Given the description of an element on the screen output the (x, y) to click on. 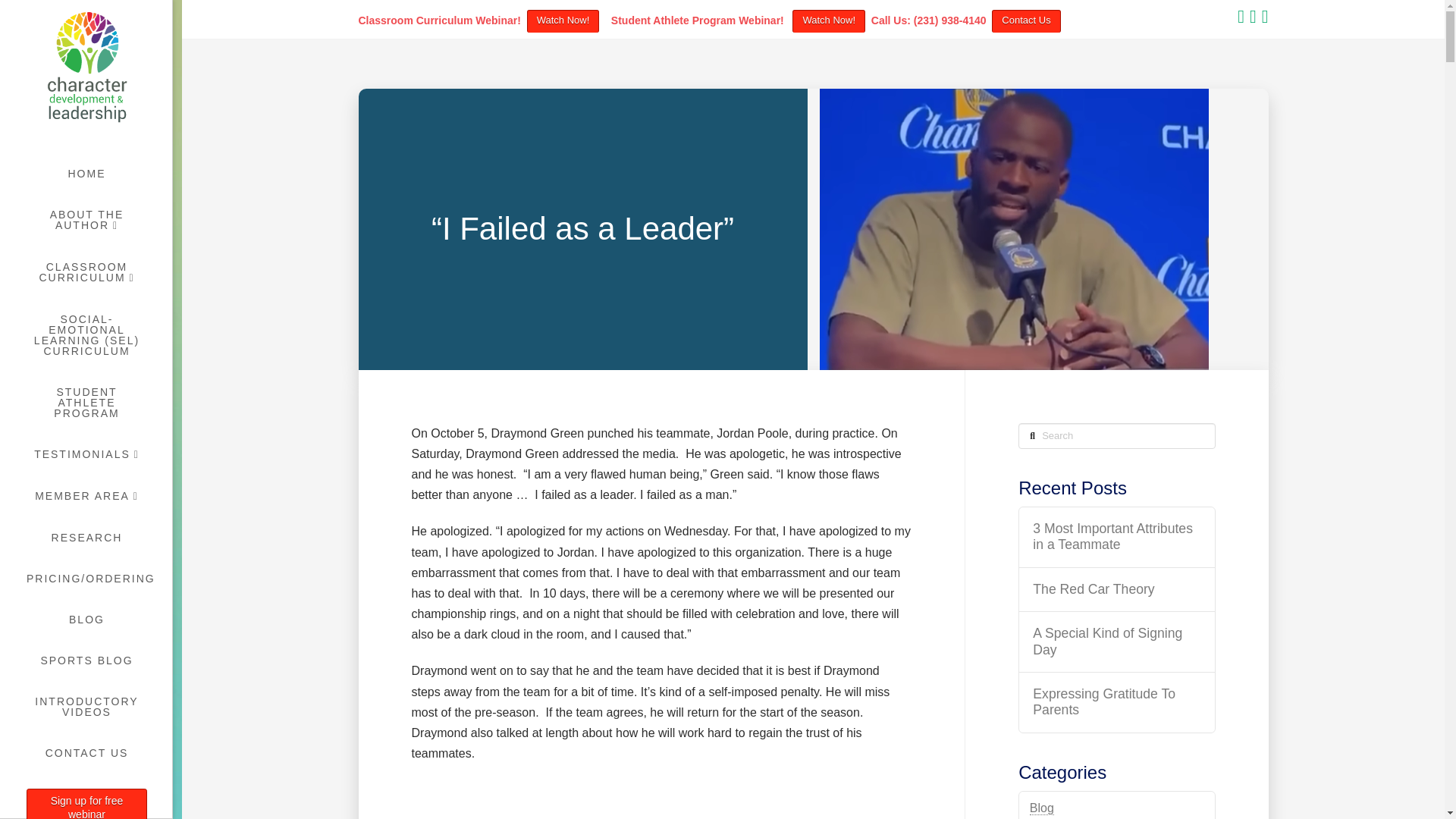
Webinars (86, 803)
Contact Us (1025, 20)
MEMBER AREA (85, 495)
BLOG (85, 618)
ABOUT THE AUTHOR (85, 220)
TESTIMONIALS (85, 454)
Watch Now! (828, 20)
SPORTS BLOG (85, 659)
Watch Now! (563, 20)
CLASSROOM CURRICULUM (85, 272)
STUDENT ATHLETE PROGRAM (85, 402)
HOME (85, 173)
RESEARCH (85, 536)
